Given the description of an element on the screen output the (x, y) to click on. 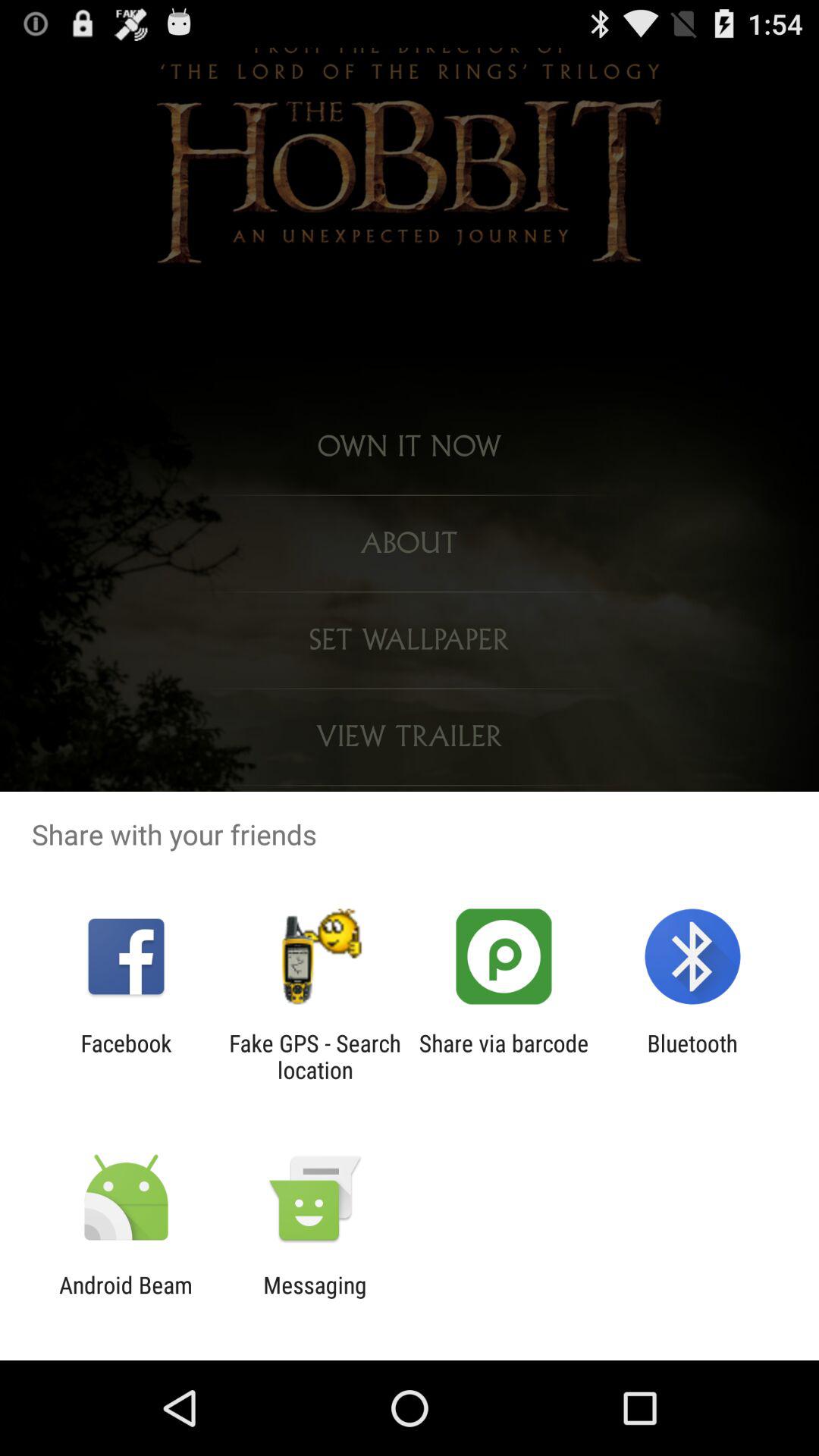
jump until the share via barcode (503, 1056)
